Given the description of an element on the screen output the (x, y) to click on. 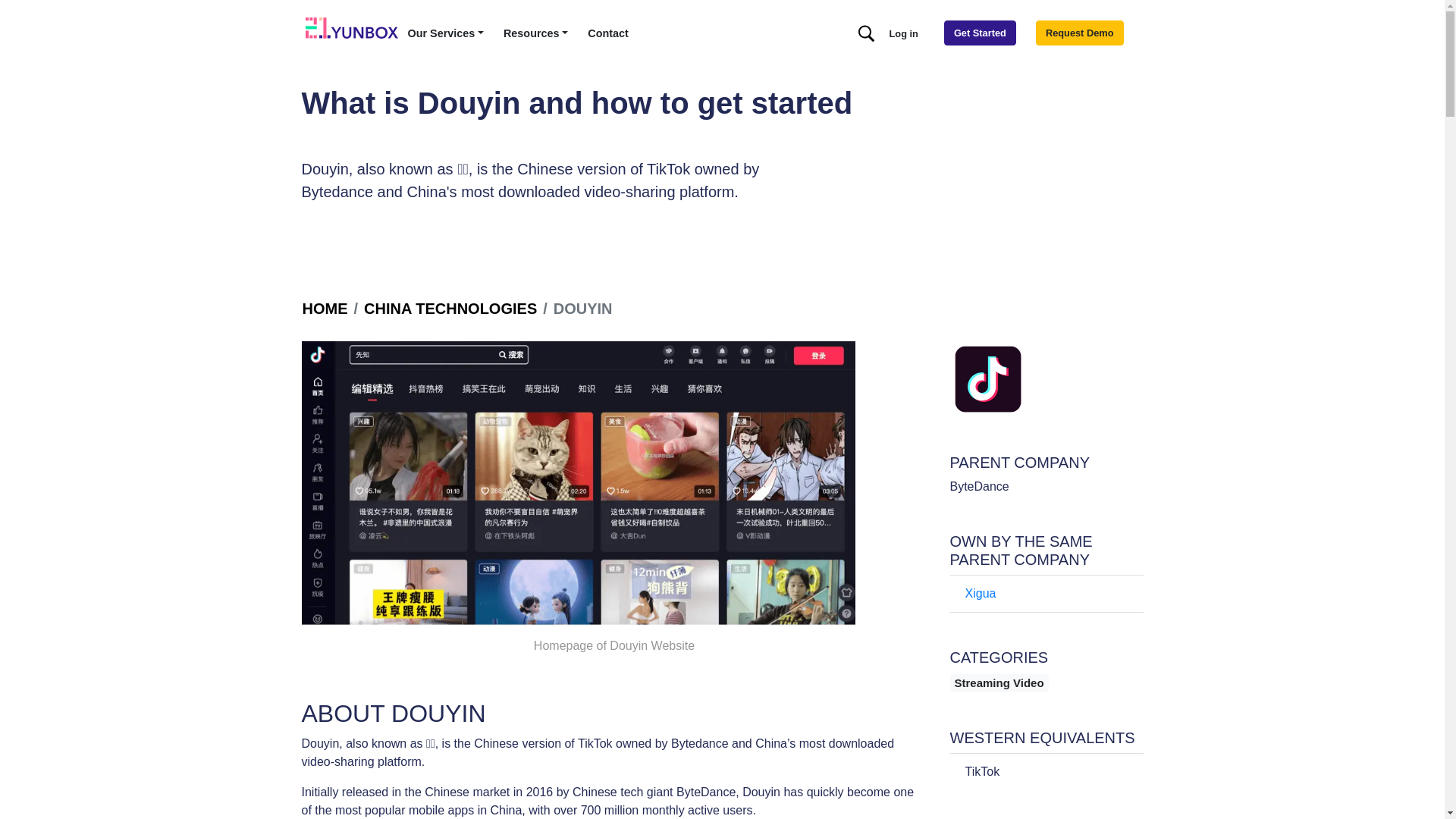
Resources Element type: text (535, 33)
Request Demo Element type: text (1079, 32)
Our Services Element type: text (445, 33)
Xigua Element type: text (979, 592)
Get Started Element type: text (980, 32)
Contact Element type: text (607, 33)
Log in Element type: text (903, 33)
CHINA TECHNOLOGIES Element type: text (450, 308)
HOME Element type: text (324, 308)
Streaming Video Element type: text (998, 681)
